Given the description of an element on the screen output the (x, y) to click on. 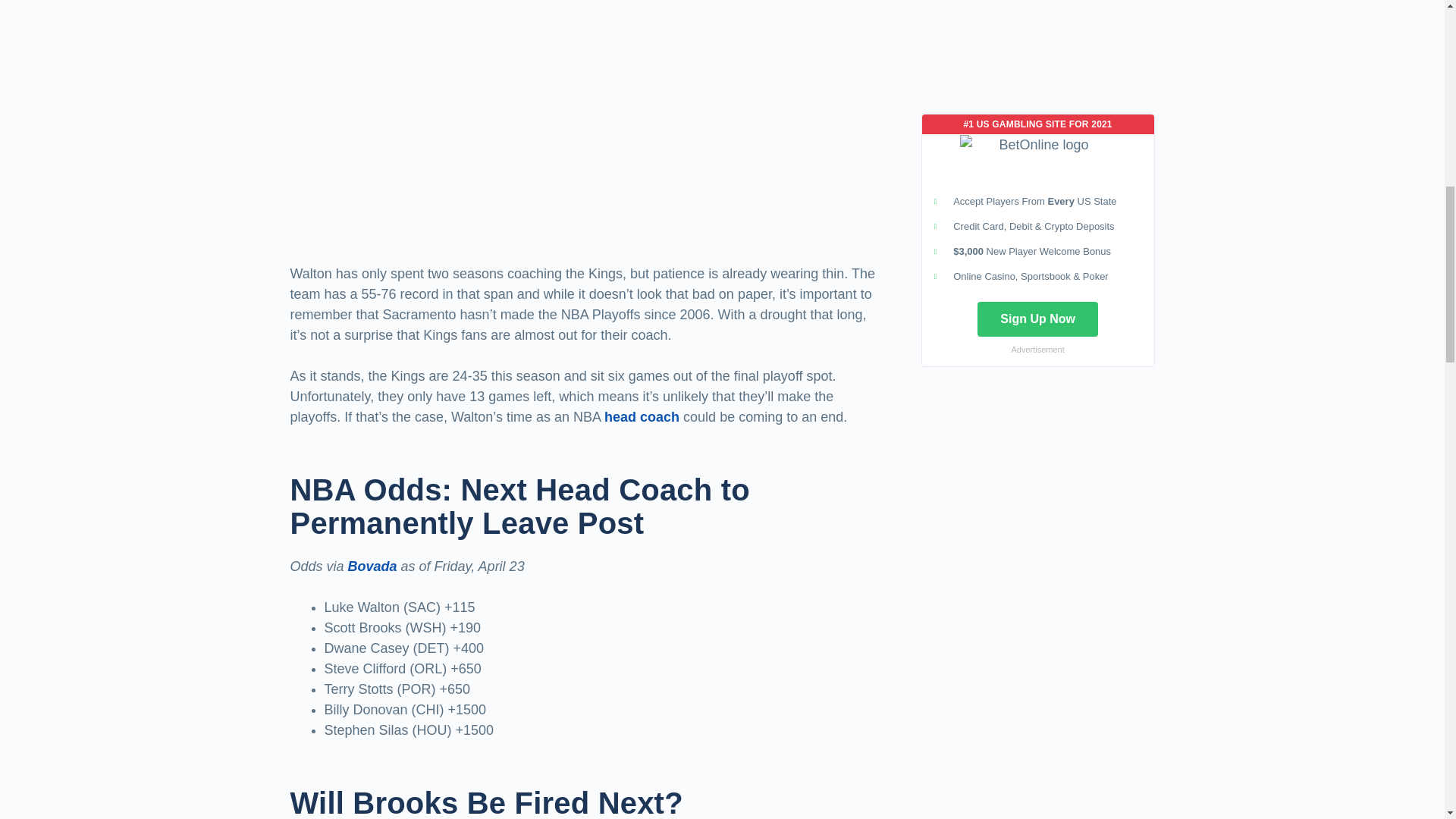
head coach (641, 417)
Bovada (372, 566)
